Given the description of an element on the screen output the (x, y) to click on. 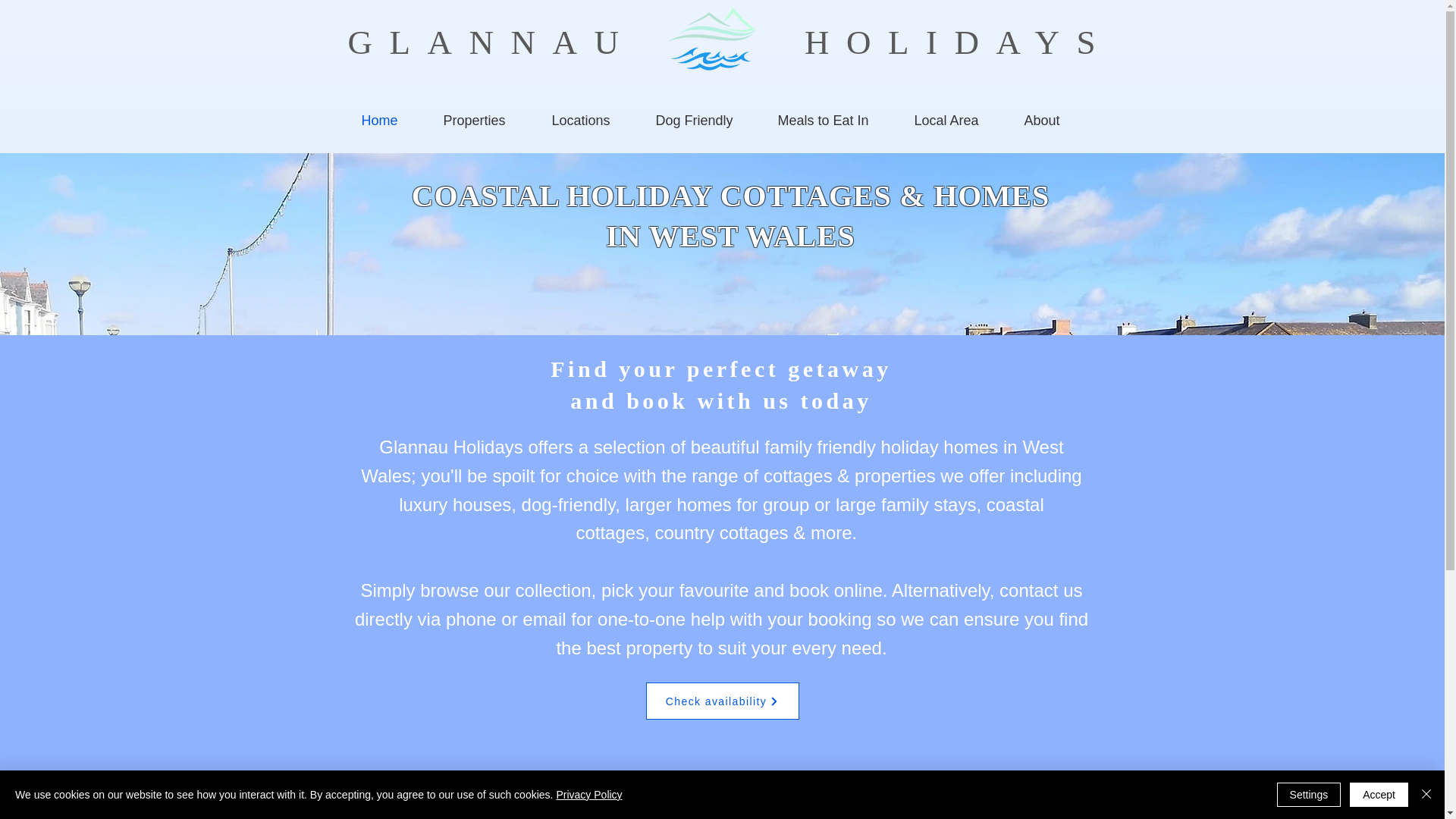
Dog Friendly (706, 120)
Settings (1308, 794)
Check availability (722, 700)
About (720, 384)
Local Area (1053, 120)
GLANNAU (956, 120)
Meals to Eat In (490, 42)
HOLIDAYS (833, 120)
Home (958, 42)
